Given the description of an element on the screen output the (x, y) to click on. 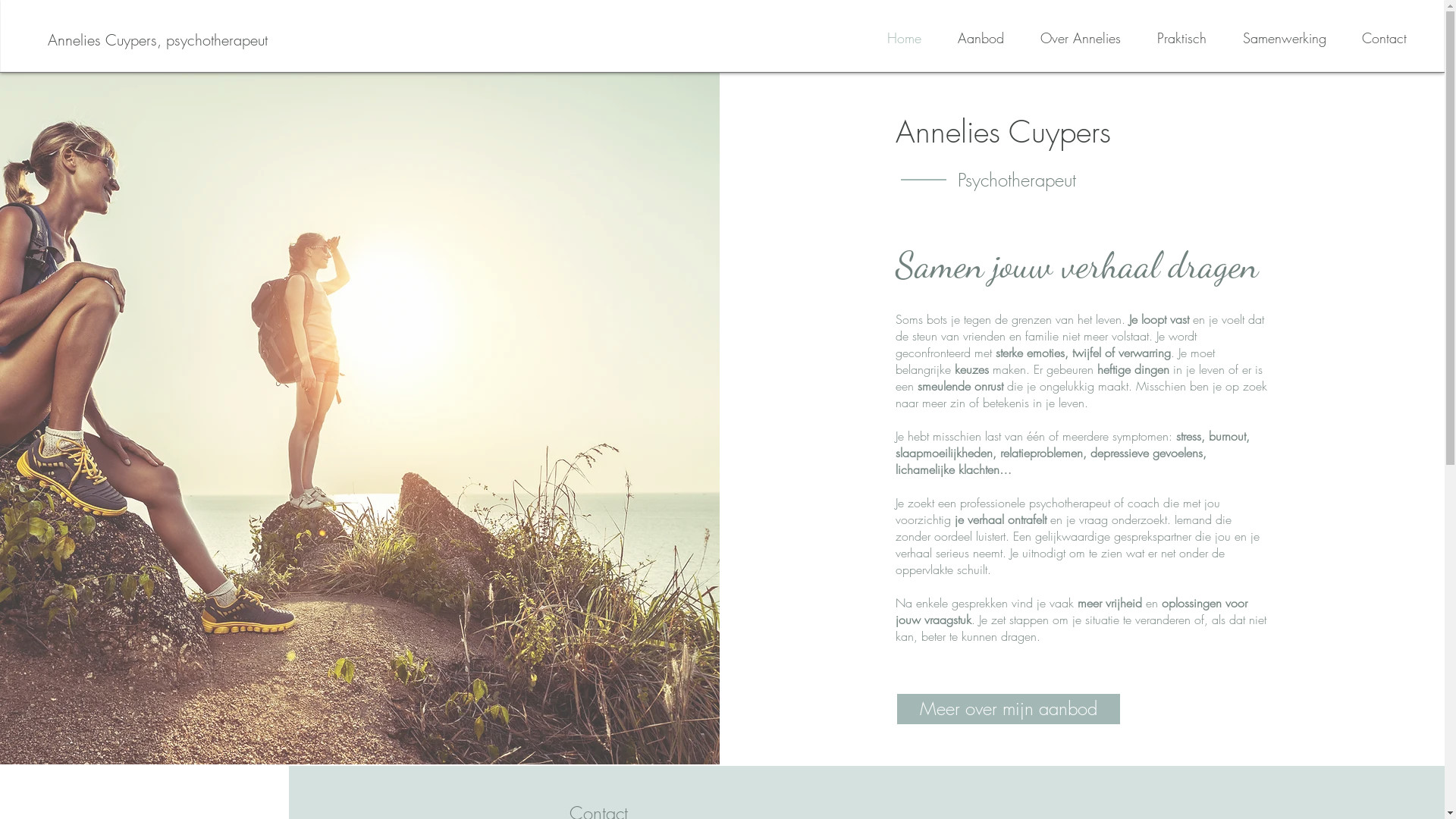
Aanbod Element type: text (969, 37)
Contact Element type: text (1373, 37)
Meer over mijn aanbod Element type: text (1008, 708)
Annelies Cuypers, psychotherapeut Element type: text (157, 39)
Praktisch Element type: text (1171, 37)
Over Annelies Element type: text (1069, 37)
Samenwerking Element type: text (1273, 37)
Home Element type: text (893, 37)
